Given the description of an element on the screen output the (x, y) to click on. 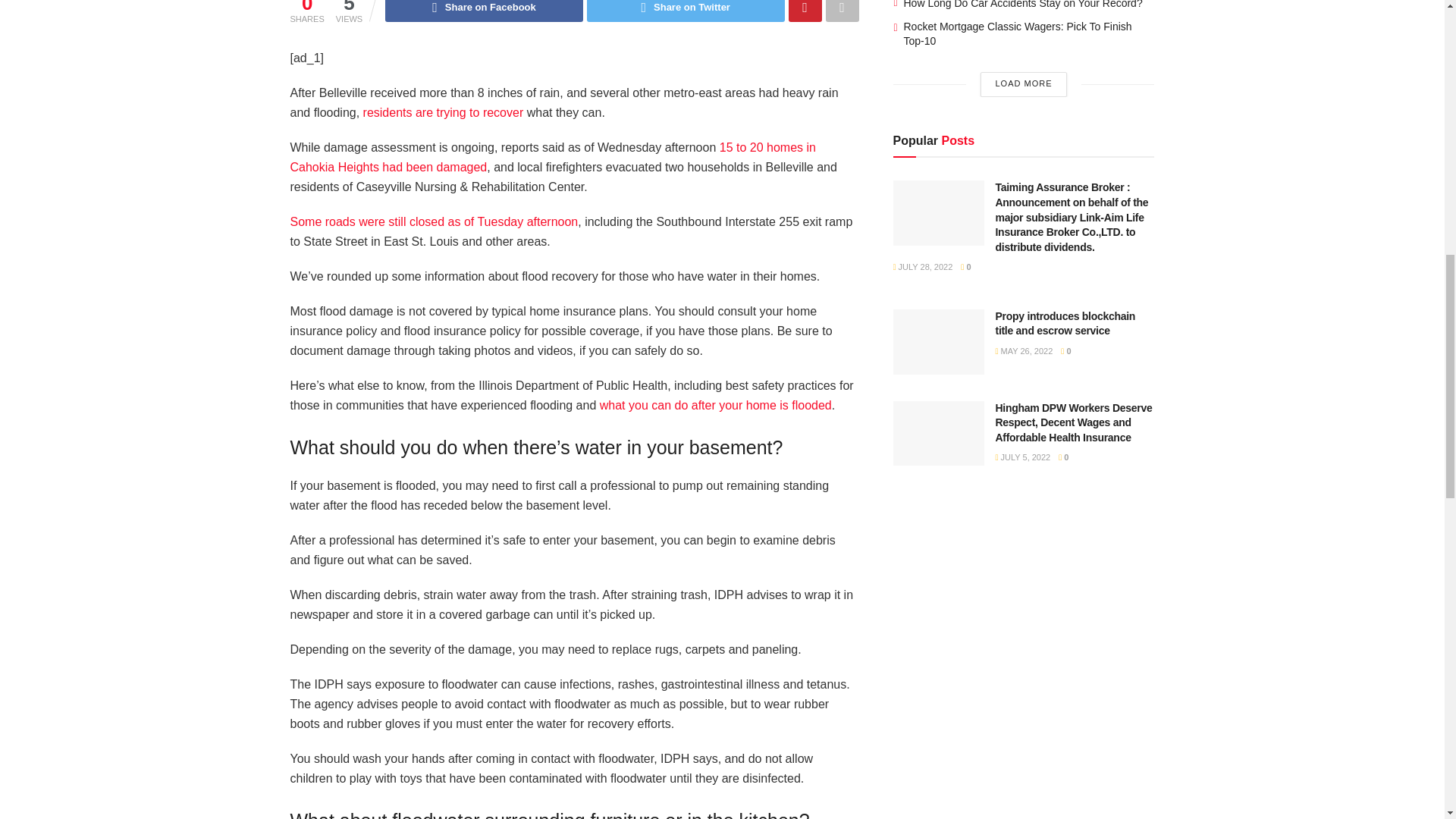
Share on Facebook (484, 11)
